Given the description of an element on the screen output the (x, y) to click on. 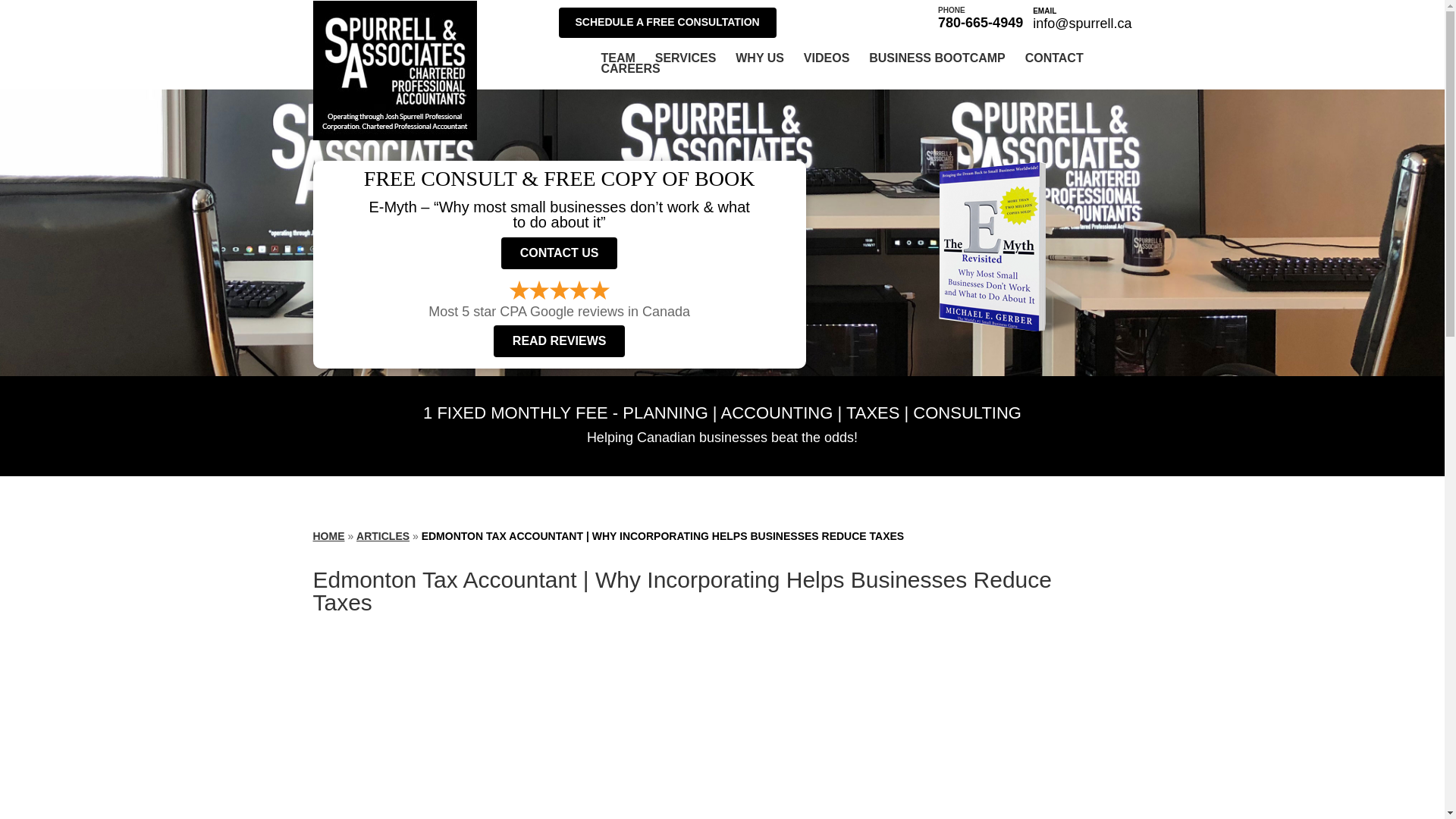
BUSINESS BOOTCAMP (937, 58)
SCHEDULE A FREE CONSULTATION (666, 22)
CONTACT (1054, 58)
SERVICES (685, 58)
VIDEOS (825, 58)
TEAM (616, 58)
READ REVIEWS (559, 341)
ARTICLES (382, 535)
HOME (328, 535)
WHY US (759, 58)
CAREERS (629, 68)
CONTACT US (558, 253)
